Given the description of an element on the screen output the (x, y) to click on. 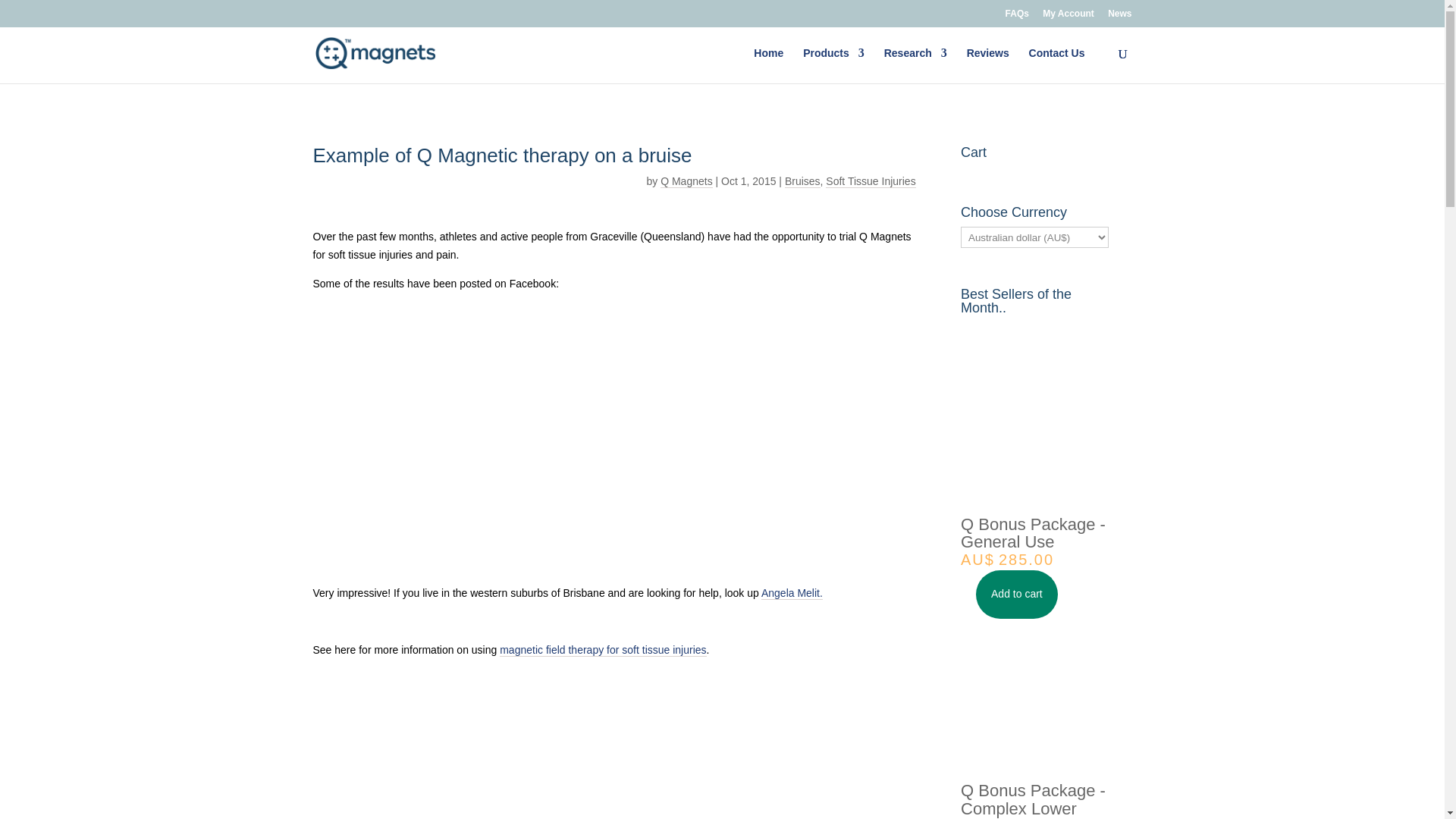
magnetic field therapy for soft tissue injuries (602, 649)
Products (833, 65)
Contact Us (1056, 65)
Soft Tissue Injuries (870, 181)
News (1119, 16)
FAQs (1017, 16)
Q Magnets (686, 181)
My Account (1068, 16)
Add to cart (1016, 594)
Reviews (987, 65)
